Given the description of an element on the screen output the (x, y) to click on. 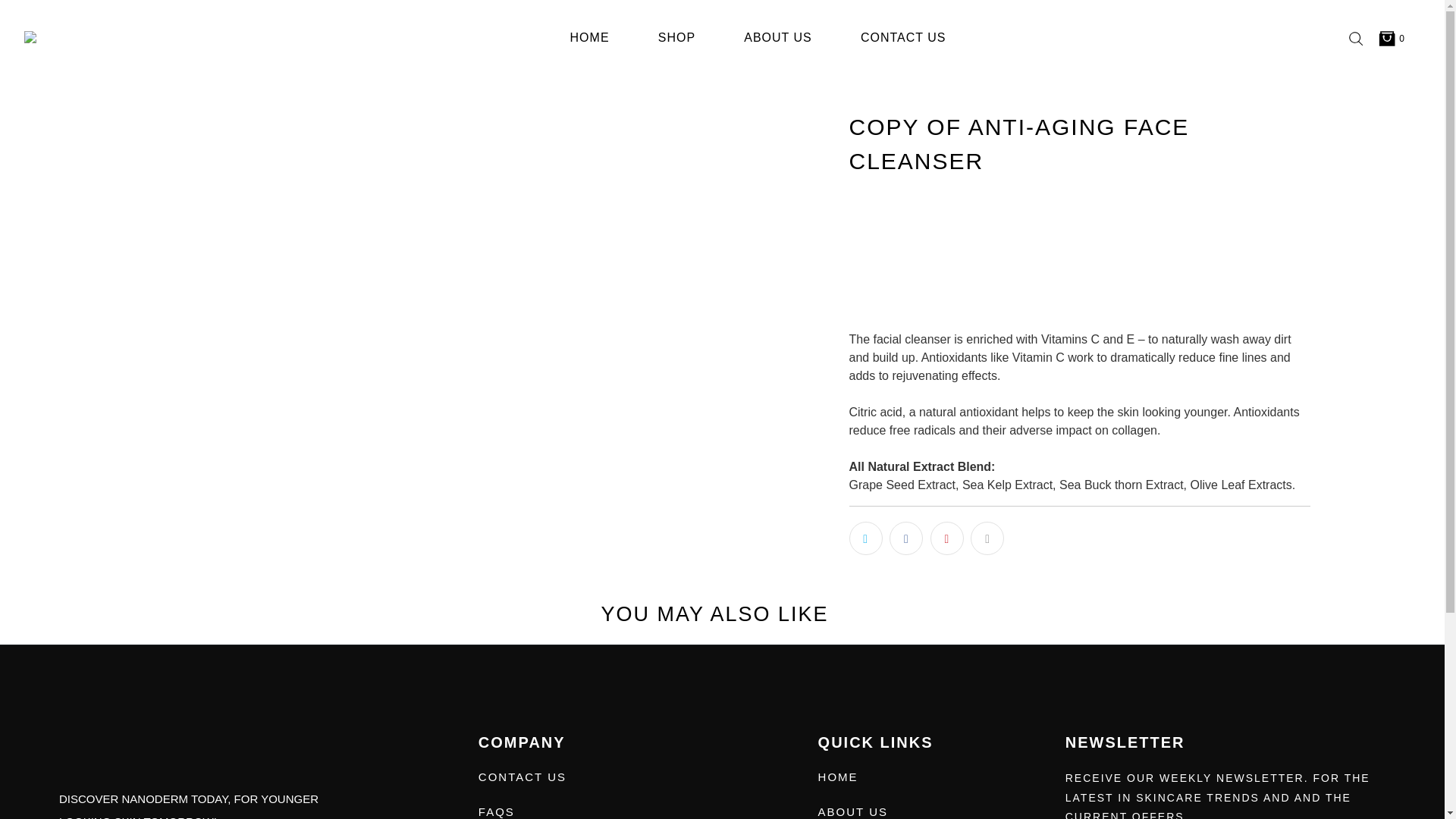
Share this on Twitter (865, 538)
nanoderm (74, 37)
Search (1355, 37)
Email this to a friend (987, 538)
Share this on Pinterest (946, 538)
Share this on Facebook (906, 538)
